Given the description of an element on the screen output the (x, y) to click on. 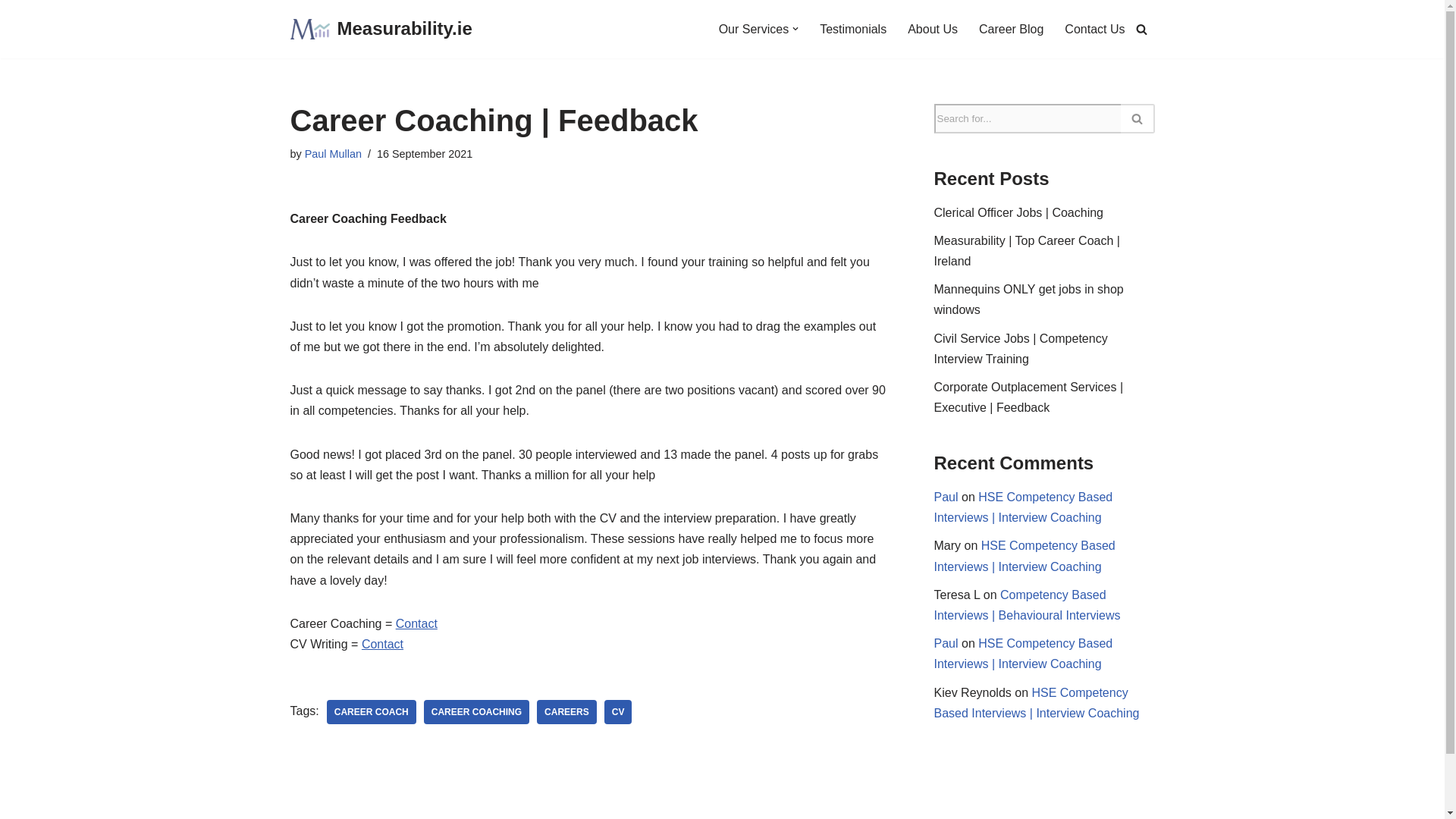
Career Coach (371, 711)
Contact (382, 644)
Measurability.ie (380, 29)
About Us (932, 28)
Testimonials (852, 28)
Career Blog (1010, 28)
Our Services (754, 28)
Contact Us (1094, 28)
Paul Mullan (332, 153)
cv (617, 711)
